Given the description of an element on the screen output the (x, y) to click on. 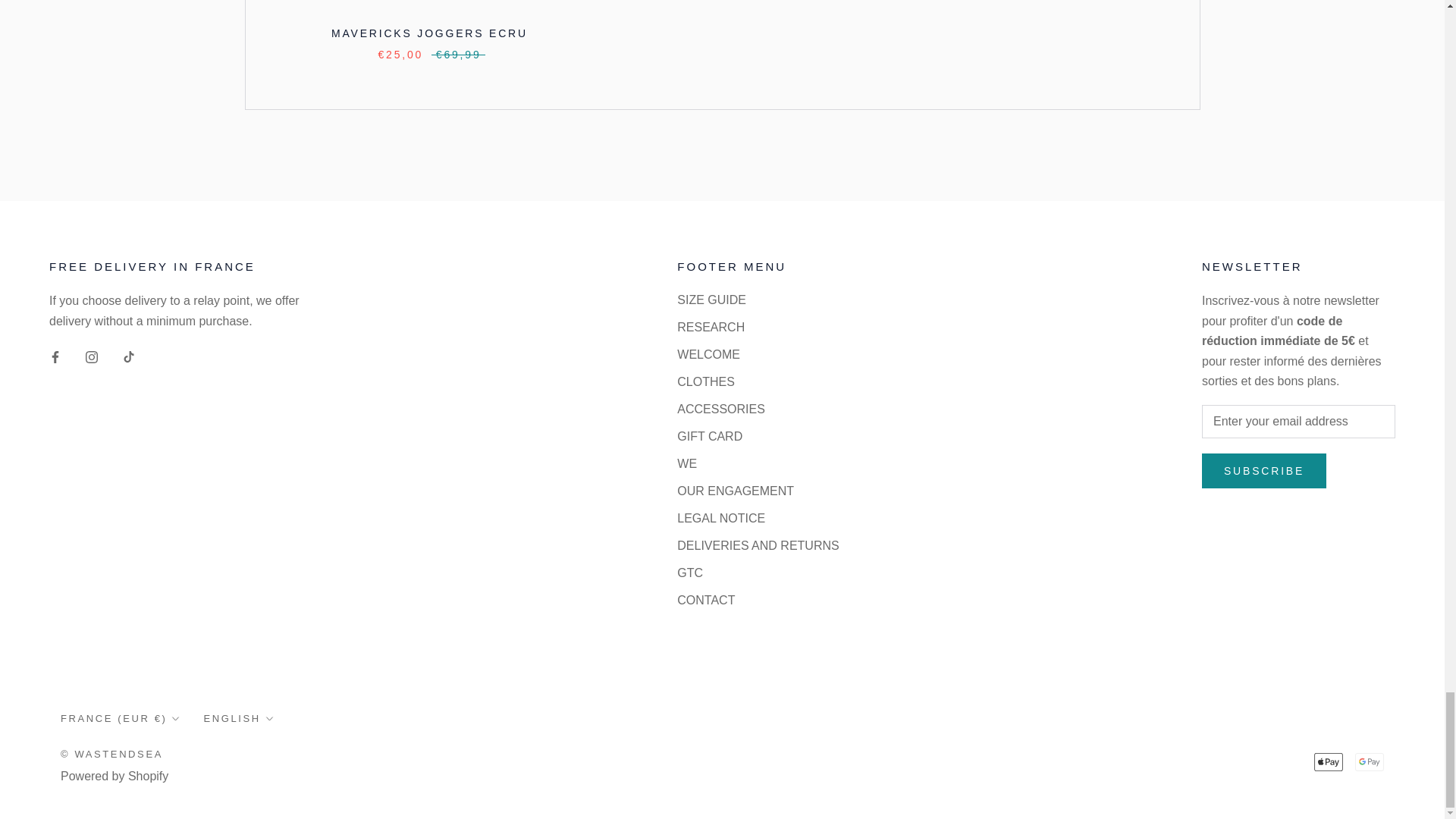
Apple Pay (1328, 761)
Google Pay (1369, 761)
